Given the description of an element on the screen output the (x, y) to click on. 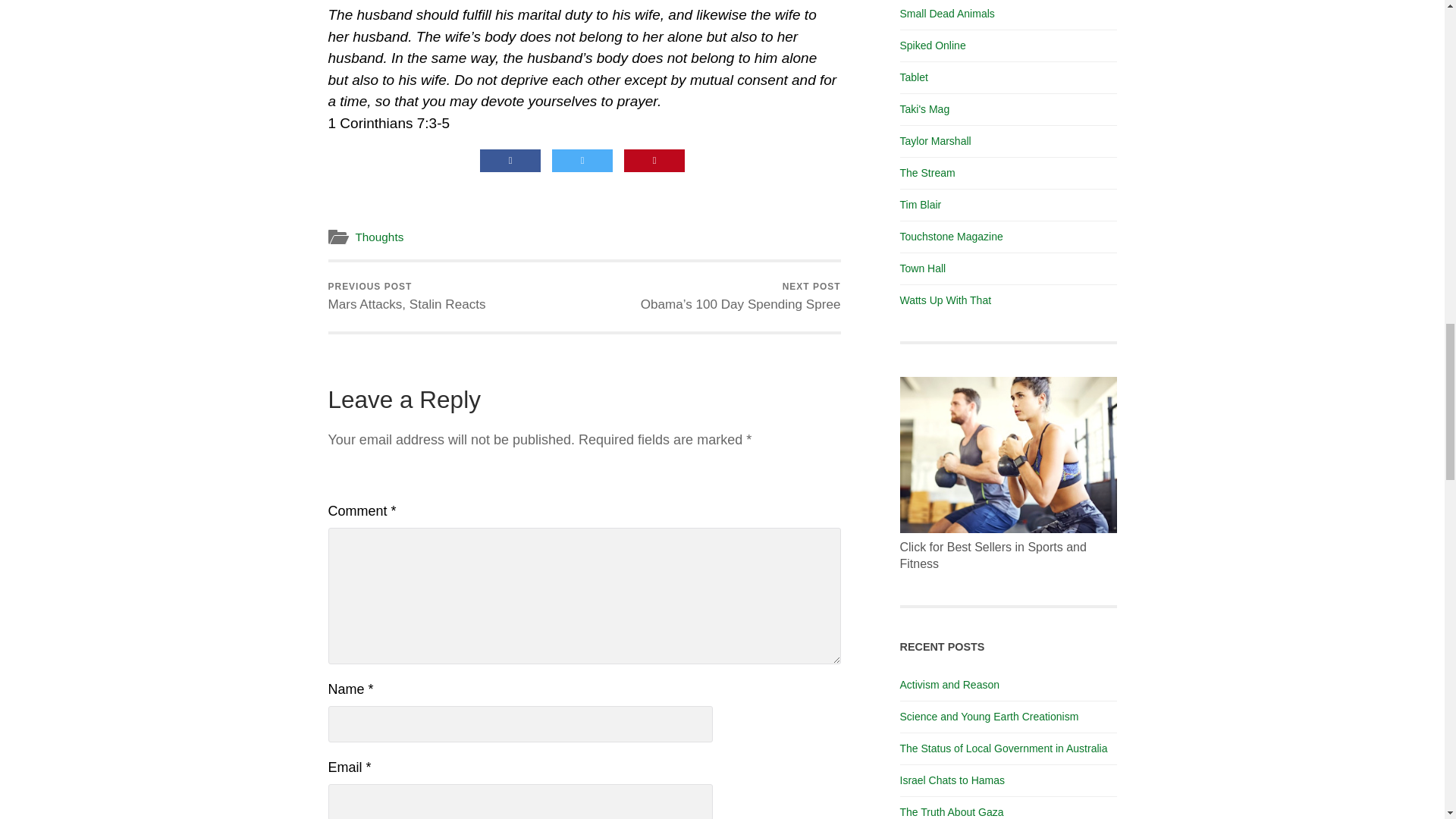
Thoughts (379, 236)
